Given the description of an element on the screen output the (x, y) to click on. 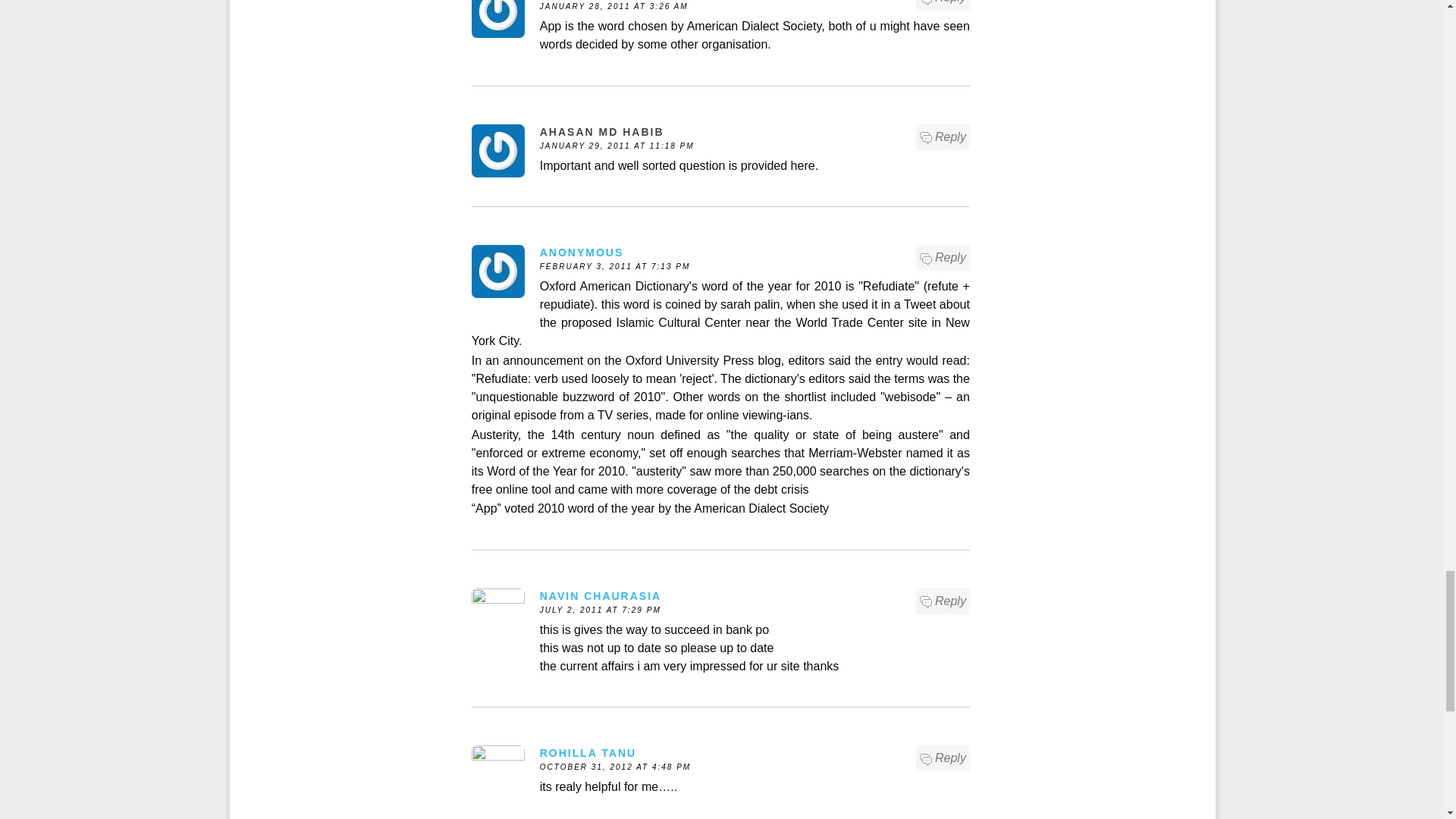
Reply (943, 601)
Reply (943, 758)
AHASAN MD HABIB (601, 132)
Reply (943, 257)
Reply (943, 3)
Reply (943, 136)
